Given the description of an element on the screen output the (x, y) to click on. 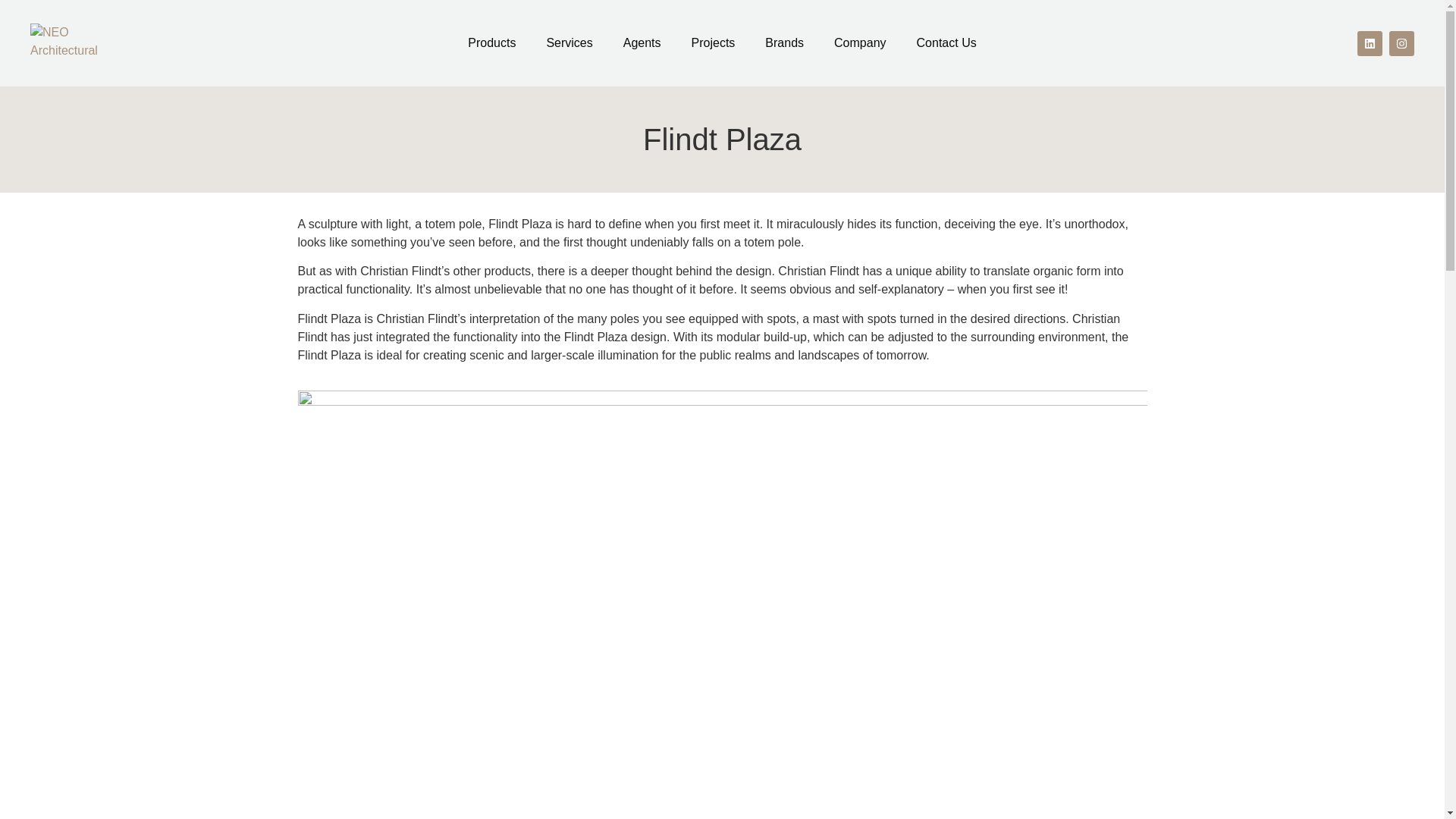
Services (569, 42)
Projects (714, 42)
Agents (642, 42)
Products (491, 42)
Company (859, 42)
Brands (783, 42)
Contact Us (946, 42)
